Given the description of an element on the screen output the (x, y) to click on. 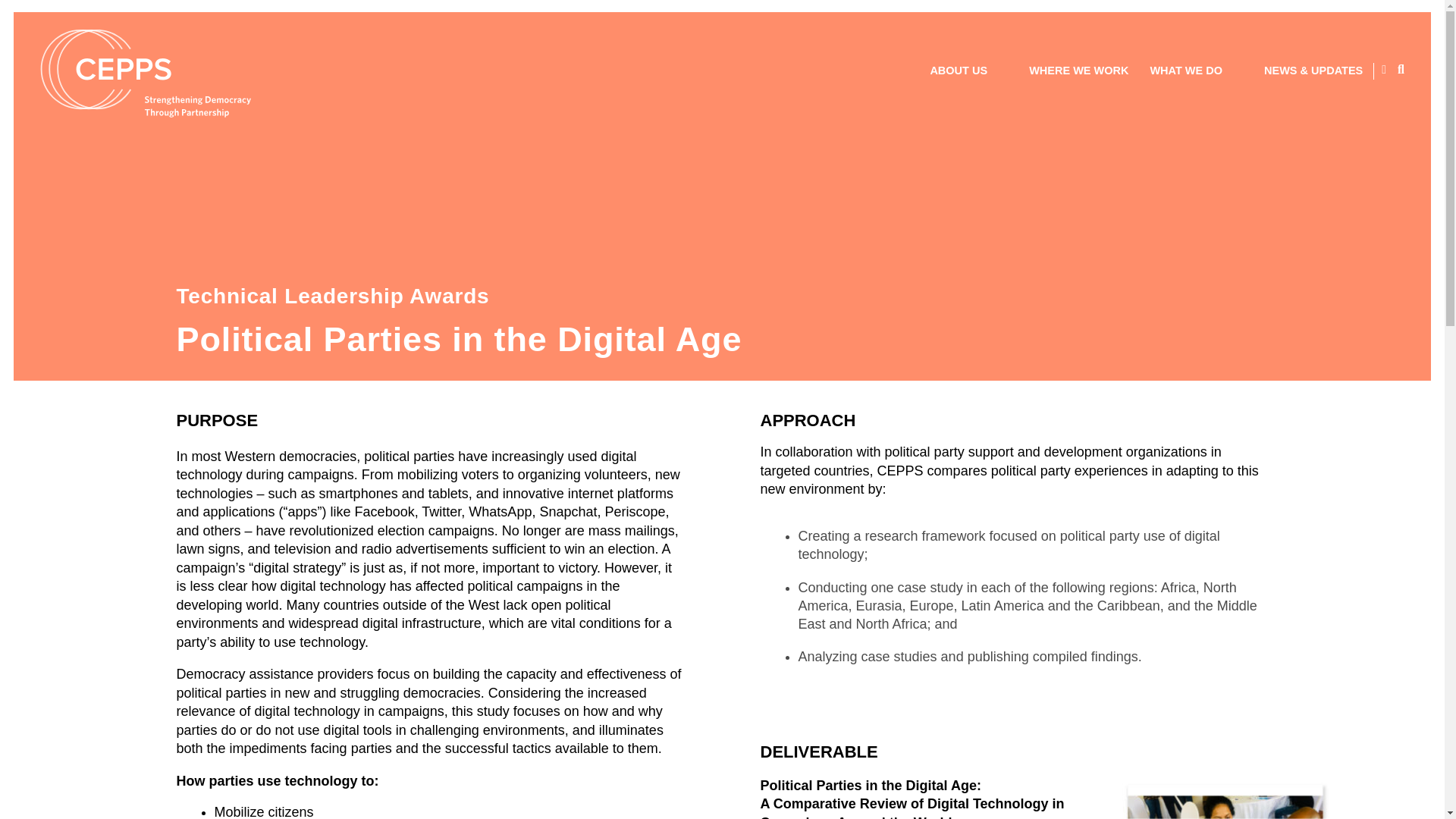
WHERE WE WORK (1077, 70)
WHAT WE DO (1195, 71)
ABOUT US (967, 71)
